Given the description of an element on the screen output the (x, y) to click on. 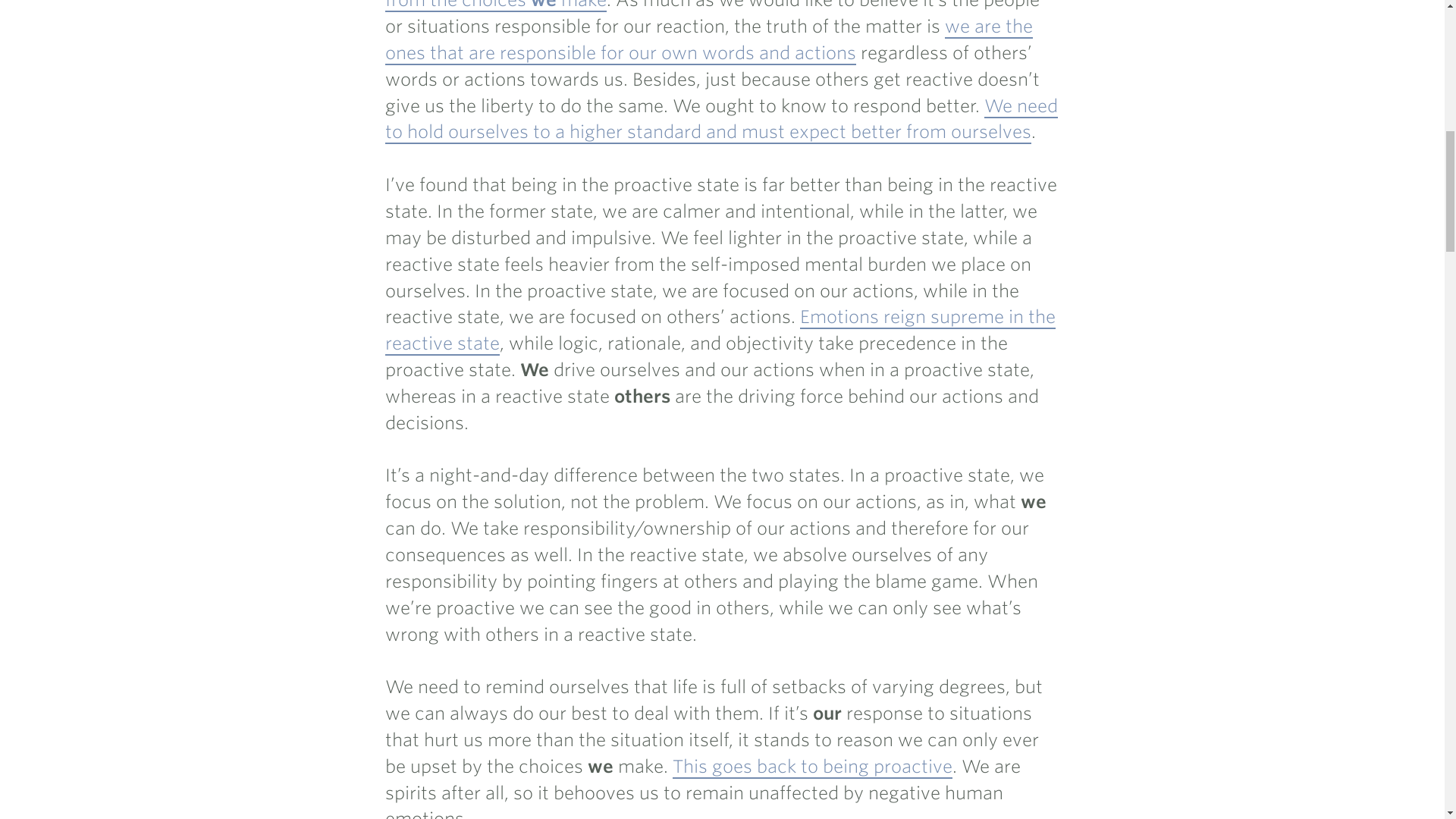
This goes back to being proactive (812, 766)
Emotions reign supreme in the reactive state (720, 330)
we can only ever truly be upset from the choices we make (700, 6)
